Given the description of an element on the screen output the (x, y) to click on. 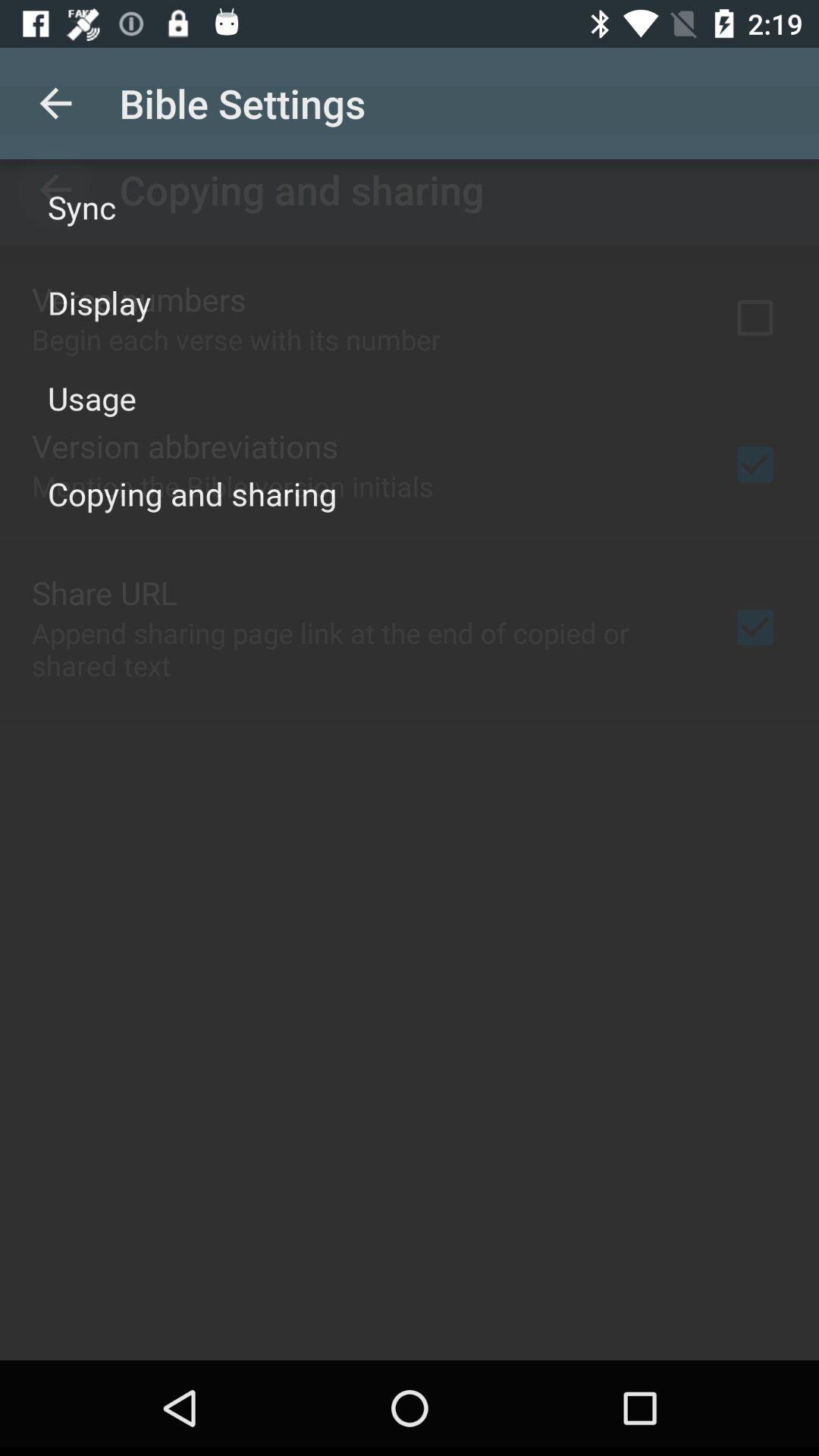
turn on item to the left of bible settings (55, 103)
